Given the description of an element on the screen output the (x, y) to click on. 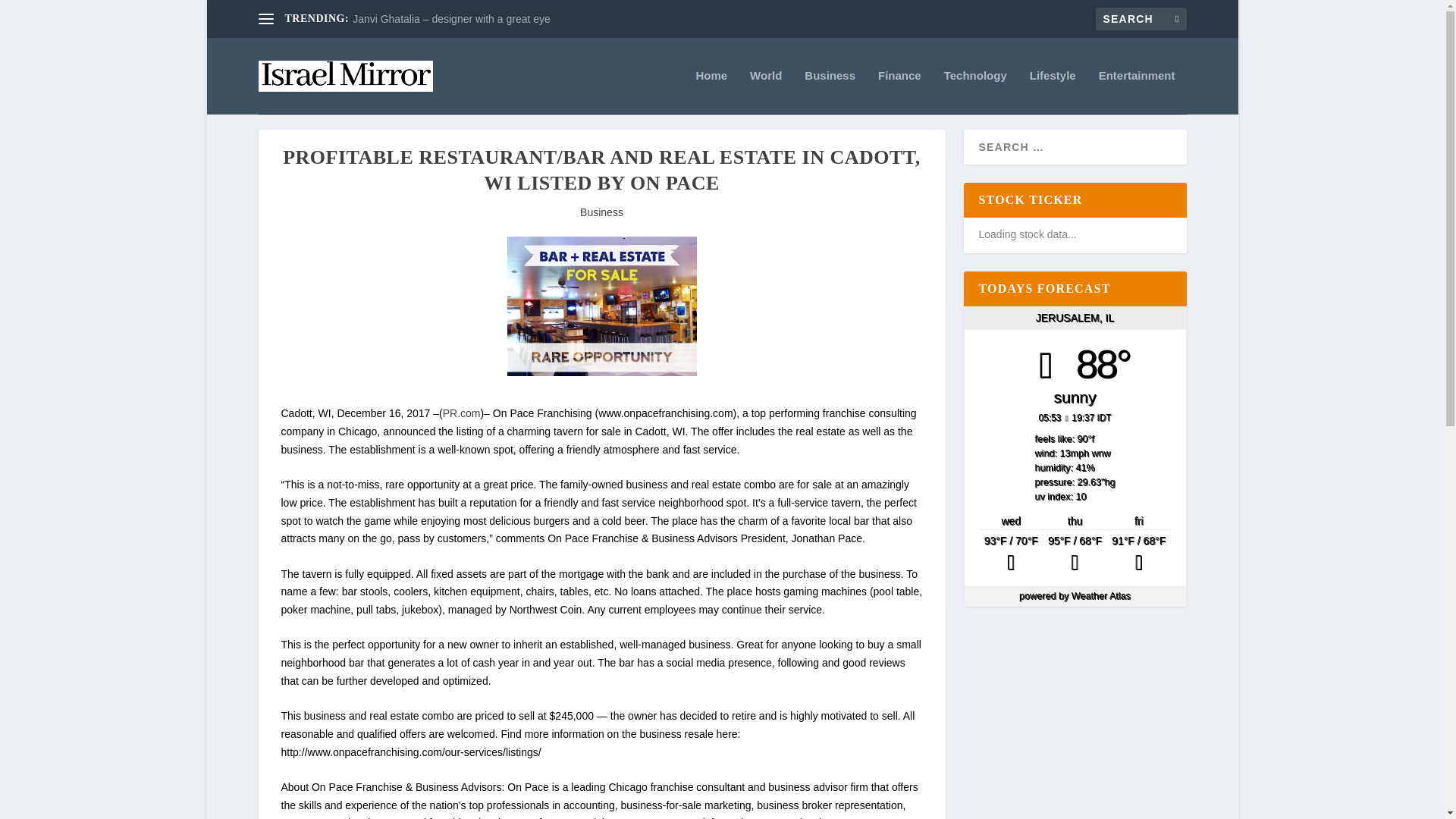
Finance (899, 91)
Search (31, 13)
PR.com (461, 413)
Business (601, 212)
Business (830, 91)
Technology (975, 91)
